Given the description of an element on the screen output the (x, y) to click on. 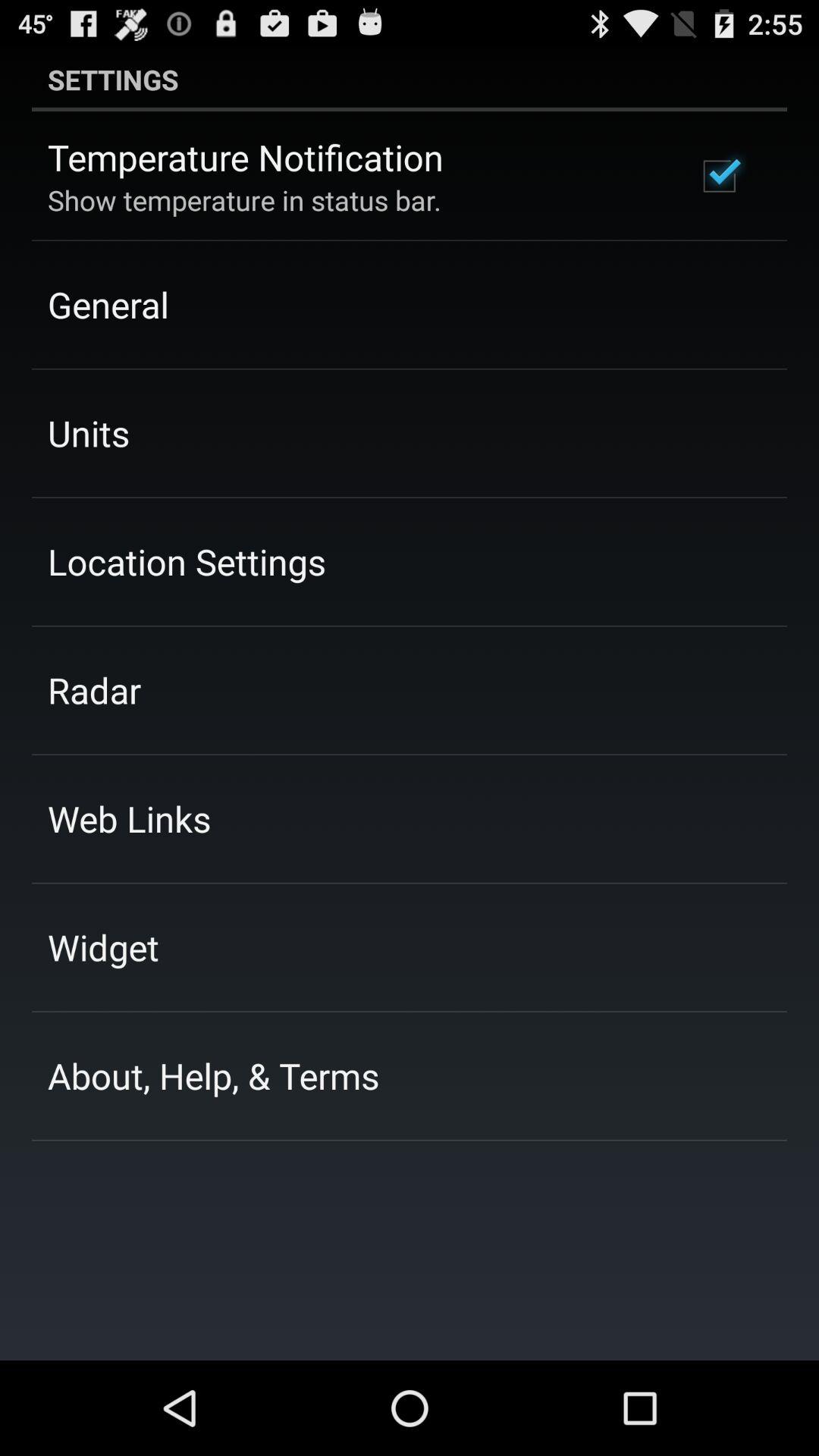
turn off app below the settings app (245, 157)
